Given the description of an element on the screen output the (x, y) to click on. 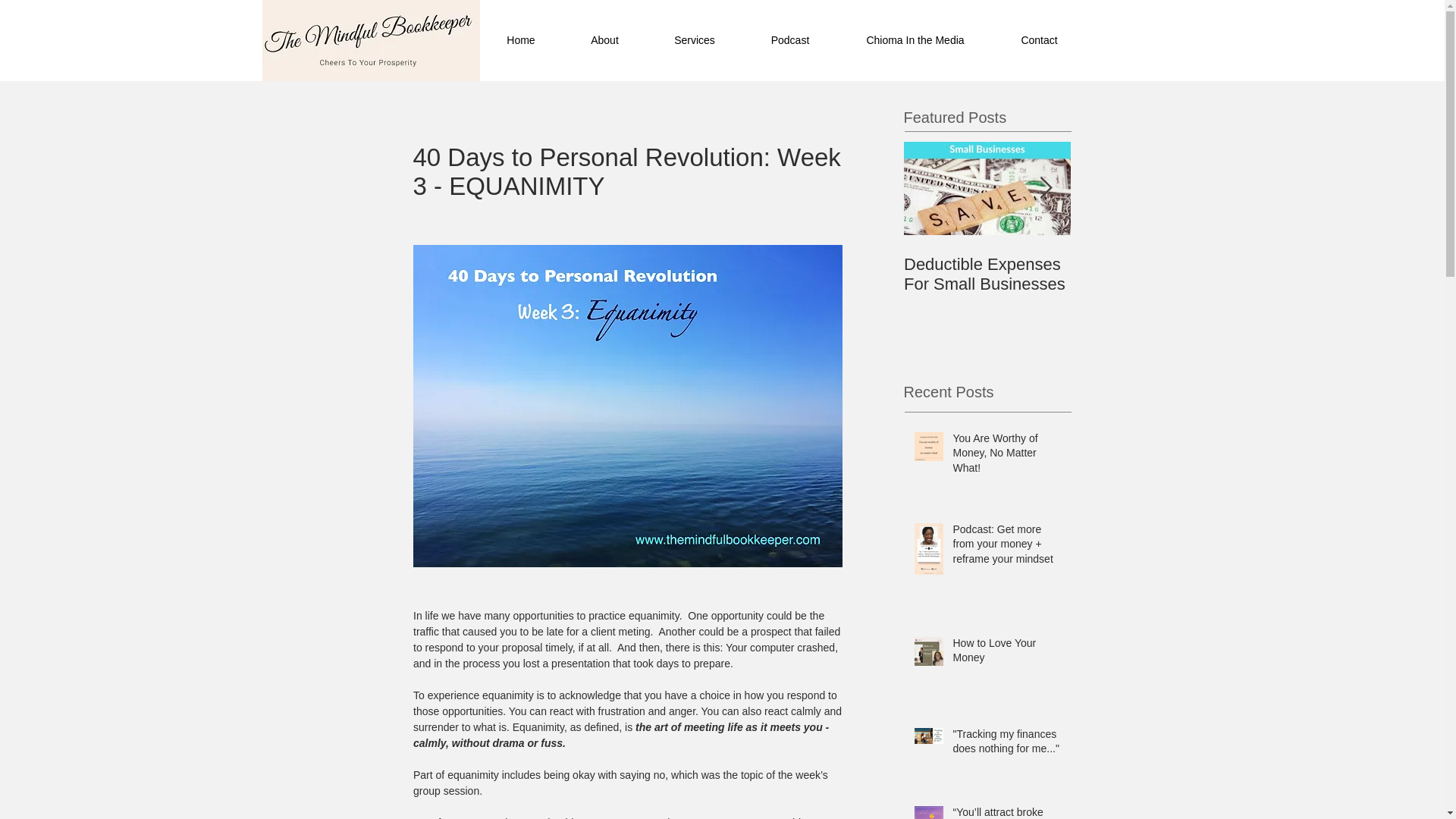
Podcast (790, 40)
Home (521, 40)
You Are Worthy of Money, No Matter What! (1006, 456)
"Tracking my finances does nothing for me..." (1006, 744)
Services (694, 40)
About (604, 40)
4 Mid-Year Review Tips for Small Businesses (1153, 283)
Chioma In the Media (914, 40)
How to Love Your Money (1006, 653)
Contact (1039, 40)
